Given the description of an element on the screen output the (x, y) to click on. 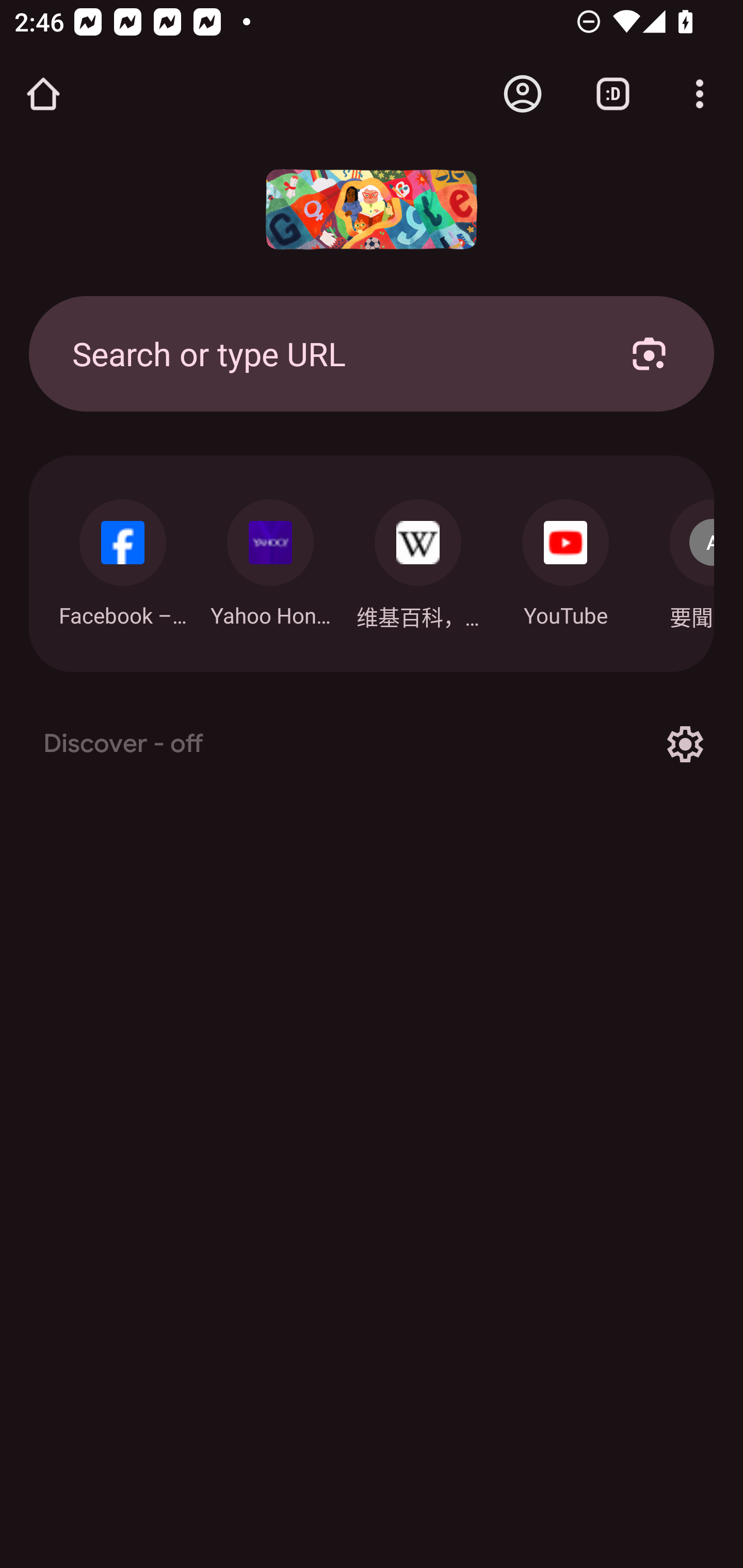
Open the home page (43, 93)
Switch or close tabs (612, 93)
Customize and control Google Chrome (699, 93)
Google doodle: 2024 年國際婦女節 (371, 209)
Search or type URL (327, 353)
Search with your camera using Google Lens (648, 353)
Navigate: YouTube: m.youtube.com YouTube (565, 558)
Options for Discover (684, 743)
